Given the description of an element on the screen output the (x, y) to click on. 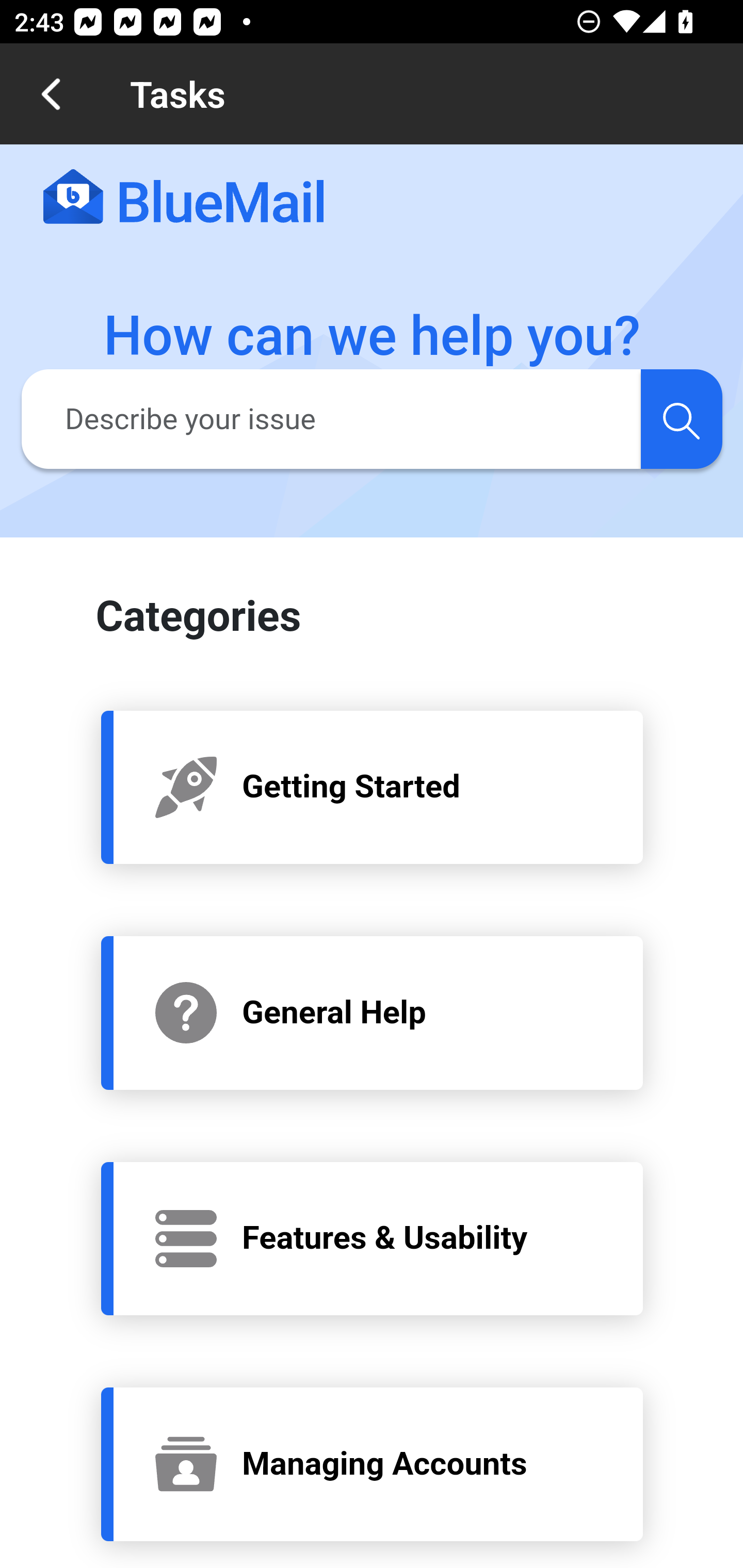
Navigate up (50, 93)
BlueMail Logo (184, 197)
Toggle navigation (663, 197)
How can we help you? (372, 336)
search (680, 418)
icon Getting Started icon Getting Started (372, 785)
icon General Help icon General Help (372, 1011)
icon Managing Accounts icon Managing Accounts (372, 1463)
